Given the description of an element on the screen output the (x, y) to click on. 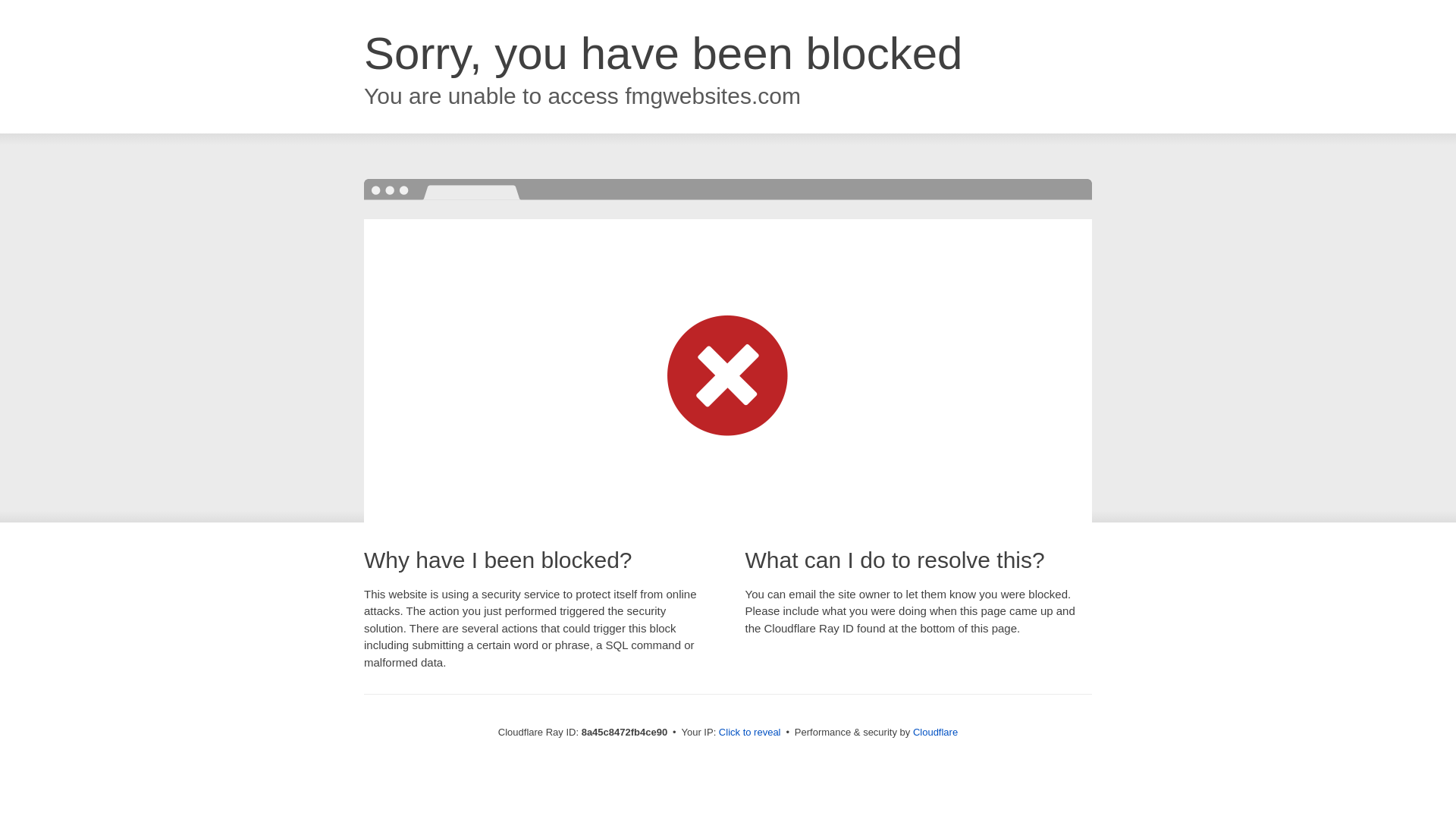
Click to reveal (749, 732)
Cloudflare (935, 731)
